Given the description of an element on the screen output the (x, y) to click on. 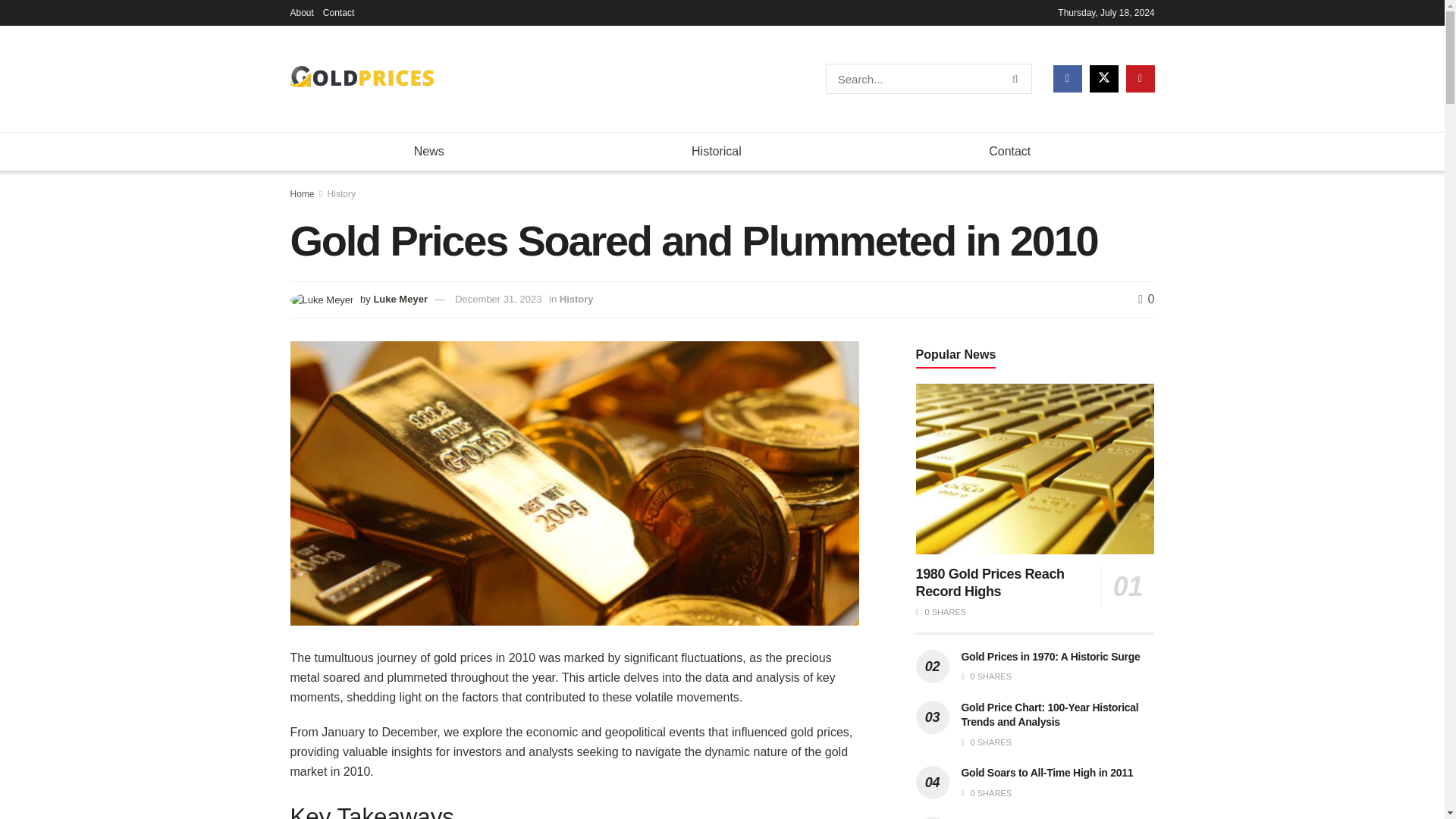
News (428, 151)
Contact (338, 12)
History (576, 298)
History (341, 194)
Luke Meyer (400, 298)
0 (1146, 298)
Home (301, 194)
About (301, 12)
Historical (715, 151)
December 31, 2023 (497, 298)
Contact (1009, 151)
